Given the description of an element on the screen output the (x, y) to click on. 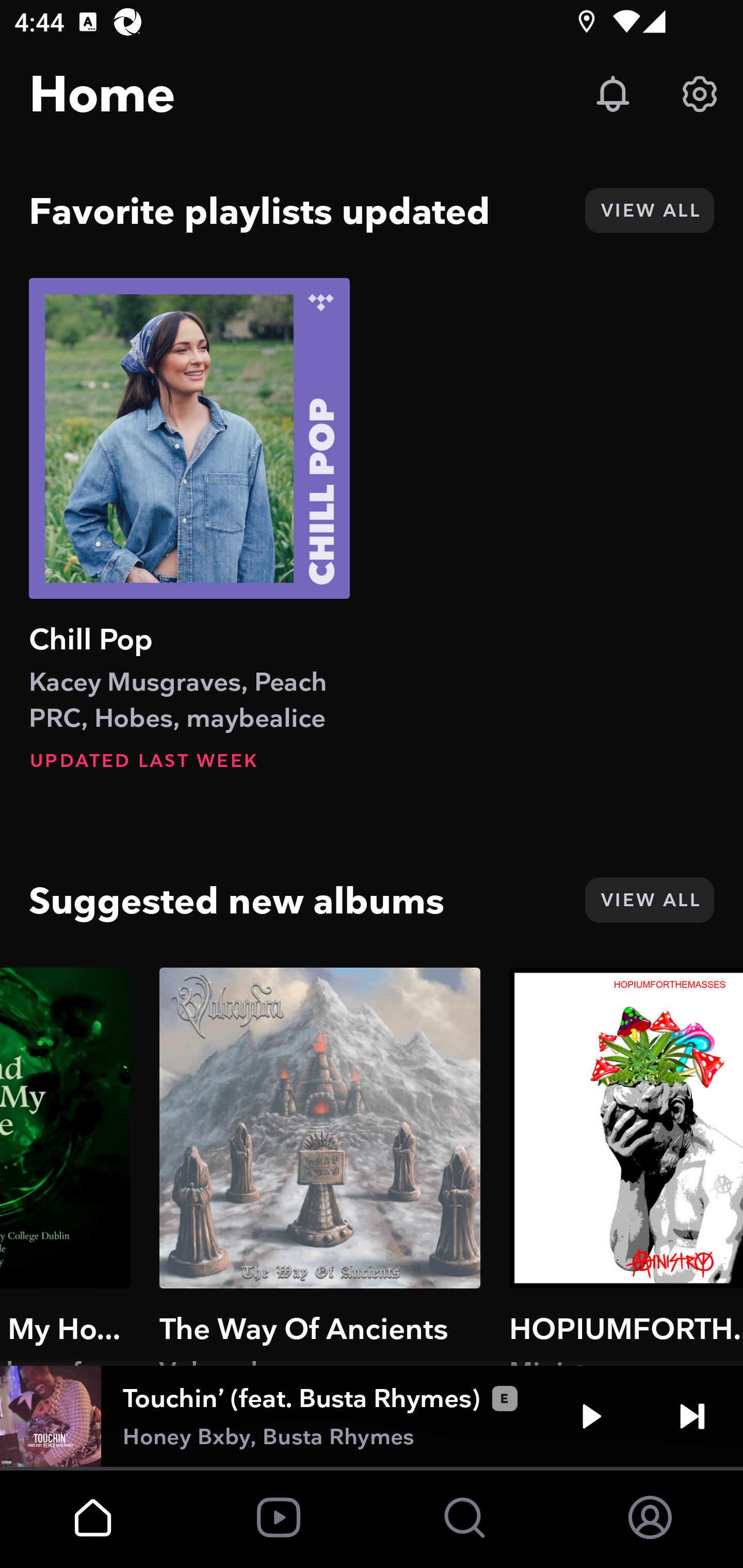
Updates (612, 93)
Settings (699, 93)
VIEW ALL (649, 210)
VIEW ALL (649, 899)
The Way Of Ancients Volcandra (319, 1166)
HOPIUMFORTHEMASSES Ministry (625, 1166)
Play (590, 1416)
